Given the description of an element on the screen output the (x, y) to click on. 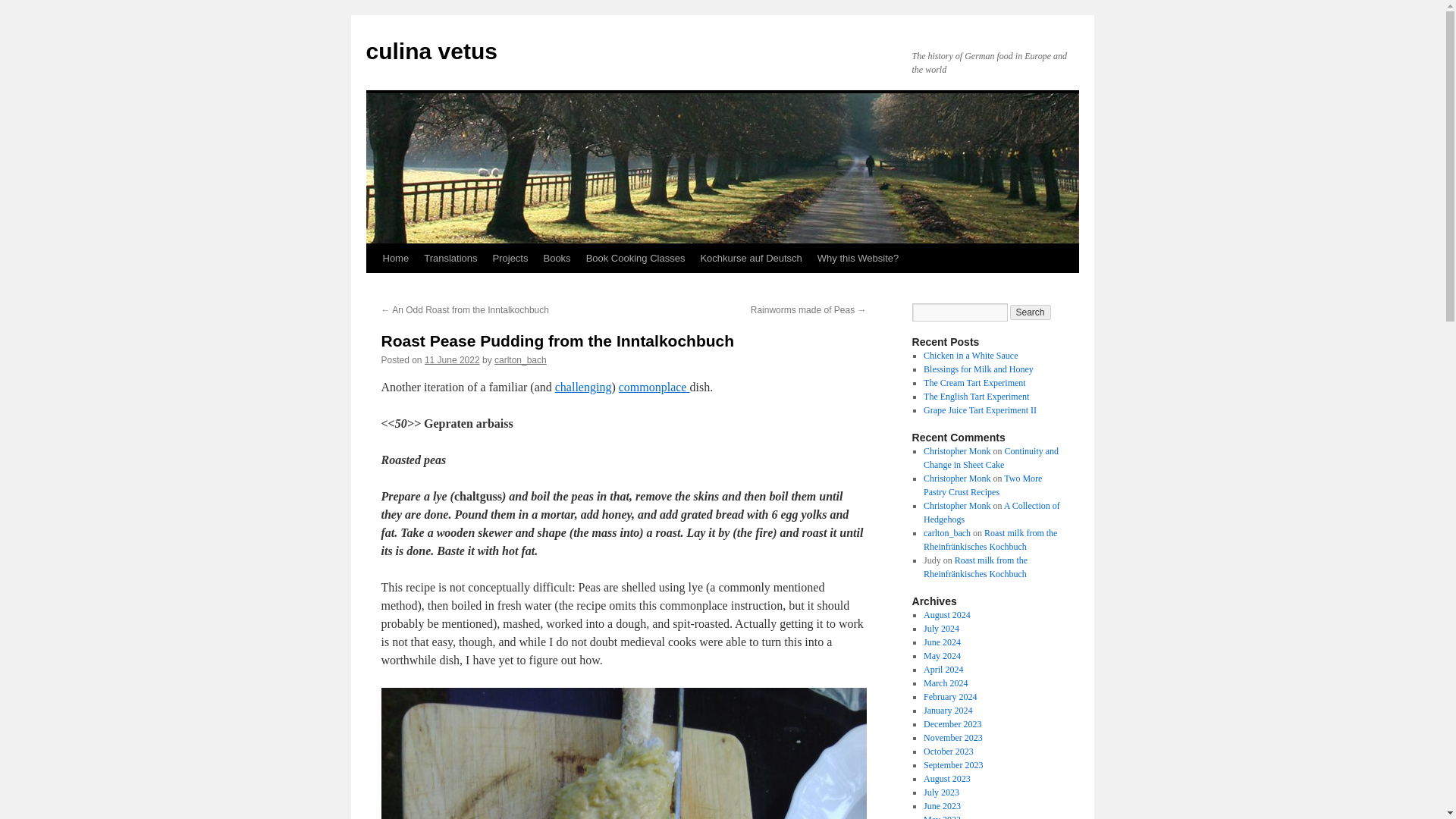
Book Cooking Classes (635, 258)
Two More Pastry Crust Recipes (982, 485)
The English Tart Experiment (976, 396)
A Collection of Hedgehogs (991, 512)
Why this Website? (857, 258)
Search (1030, 312)
Christopher Monk (956, 478)
Translations (450, 258)
Christopher Monk (956, 450)
Chicken in a White Sauce (970, 355)
